Given the description of an element on the screen output the (x, y) to click on. 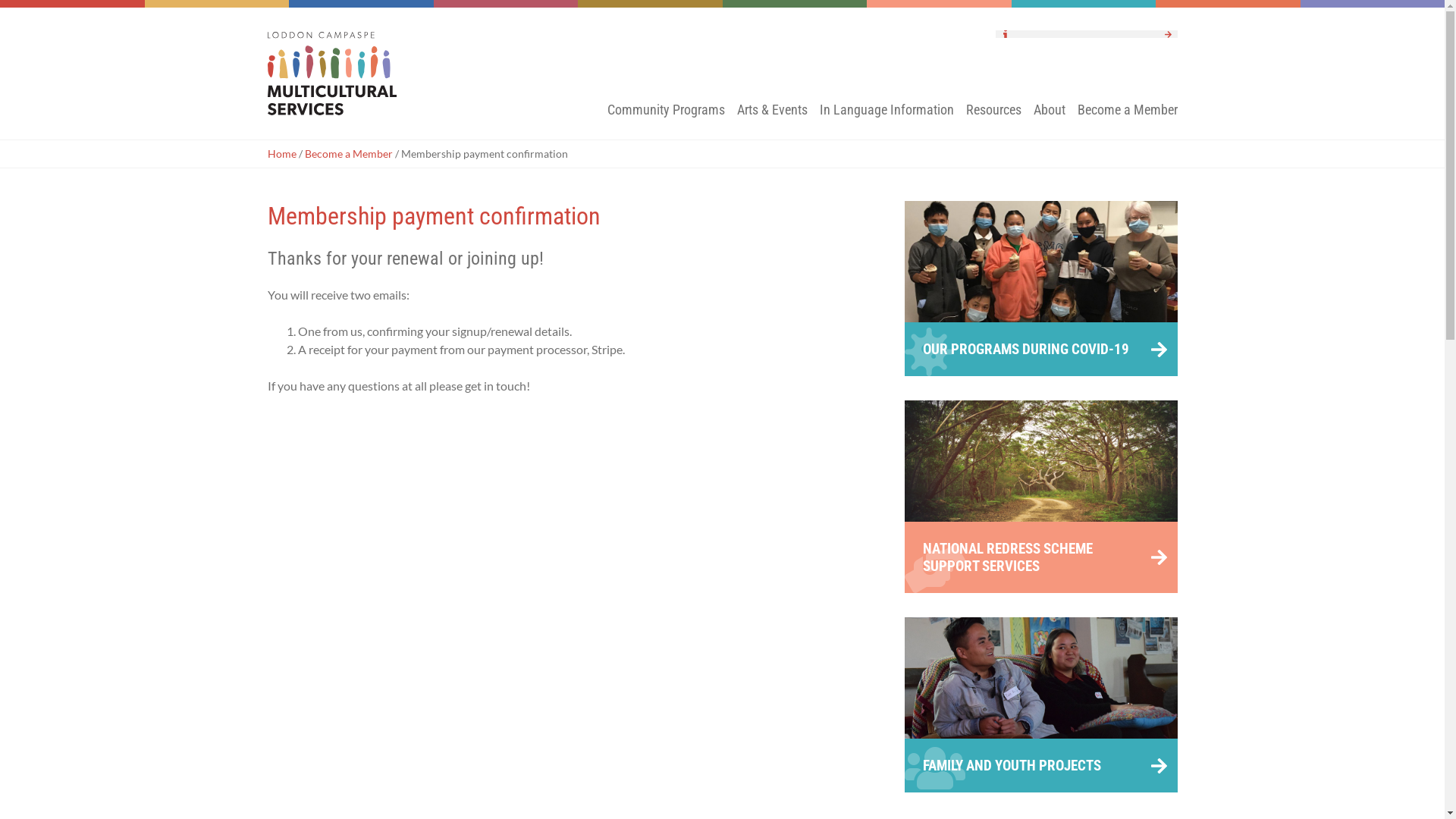
Become a Member Element type: text (348, 153)
In Language Information Element type: text (886, 119)
Home Element type: text (280, 153)
Resources Element type: text (993, 119)
Become a Member Element type: text (1126, 119)
OUR PROGRAMS DURING COVID-19 Element type: text (1039, 288)
Community Programs Element type: text (665, 119)
Loddon Campaspe Multicultural Services Element type: text (342, 73)
FAMILY AND YOUTH PROJECTS Element type: text (1039, 704)
Arts & Events Element type: text (772, 119)
About Element type: text (1048, 119)
NATIONAL REDRESS SCHEME SUPPORT SERVICES Element type: text (1039, 496)
